Given the description of an element on the screen output the (x, y) to click on. 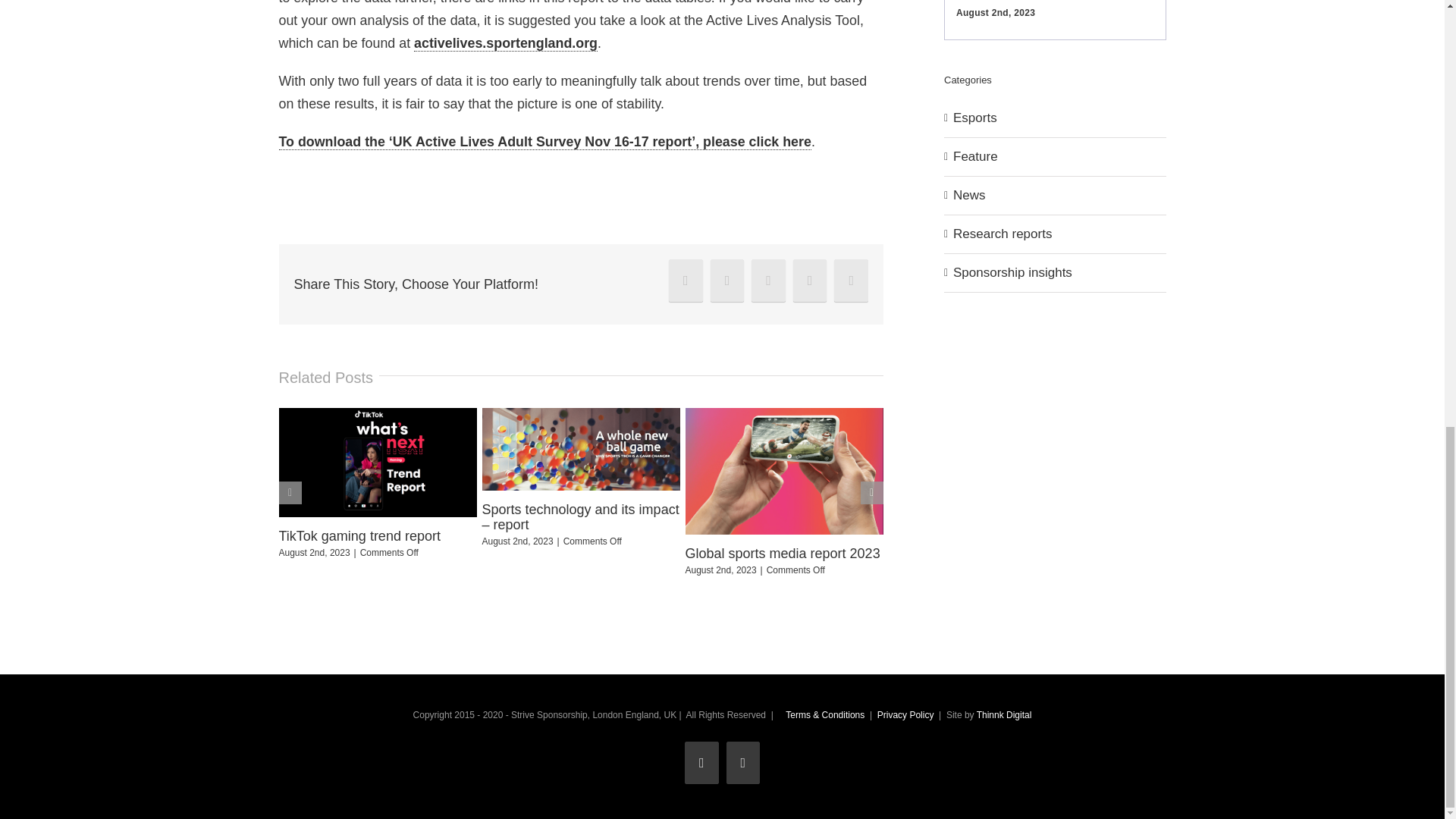
Global sports media report 2023 (782, 553)
activelives.sportengland.org (504, 43)
TikTok gaming trend report (360, 535)
